Given the description of an element on the screen output the (x, y) to click on. 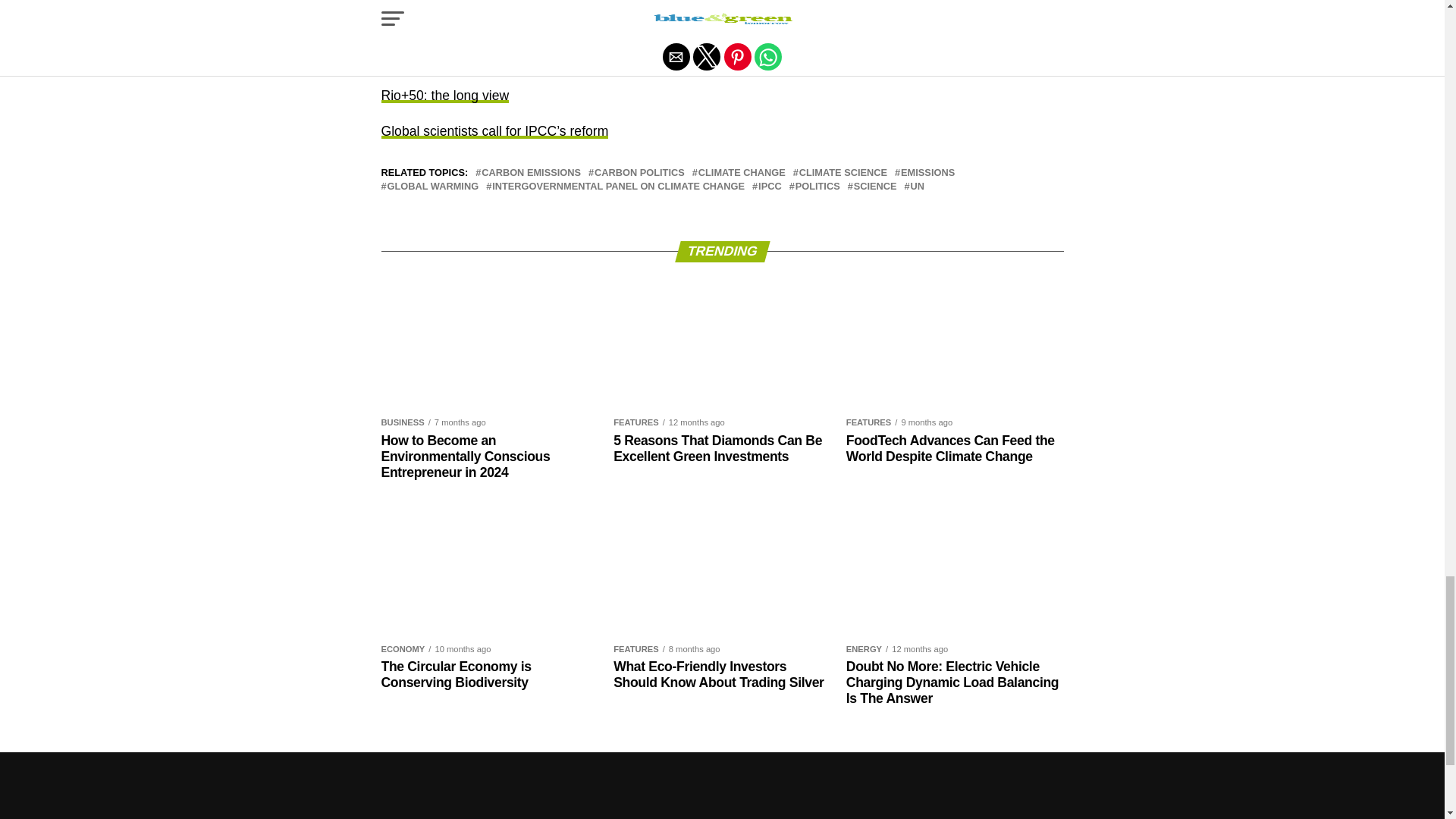
SCIENCE (874, 186)
CARBON EMISSIONS (530, 173)
UN (917, 186)
EMISSIONS (928, 173)
CLIMATE CHANGE (742, 173)
CARBON POLITICS (639, 173)
INTERGOVERNMENTAL PANEL ON CLIMATE CHANGE (618, 186)
GLOBAL WARMING (433, 186)
POLITICS (817, 186)
